Given the description of an element on the screen output the (x, y) to click on. 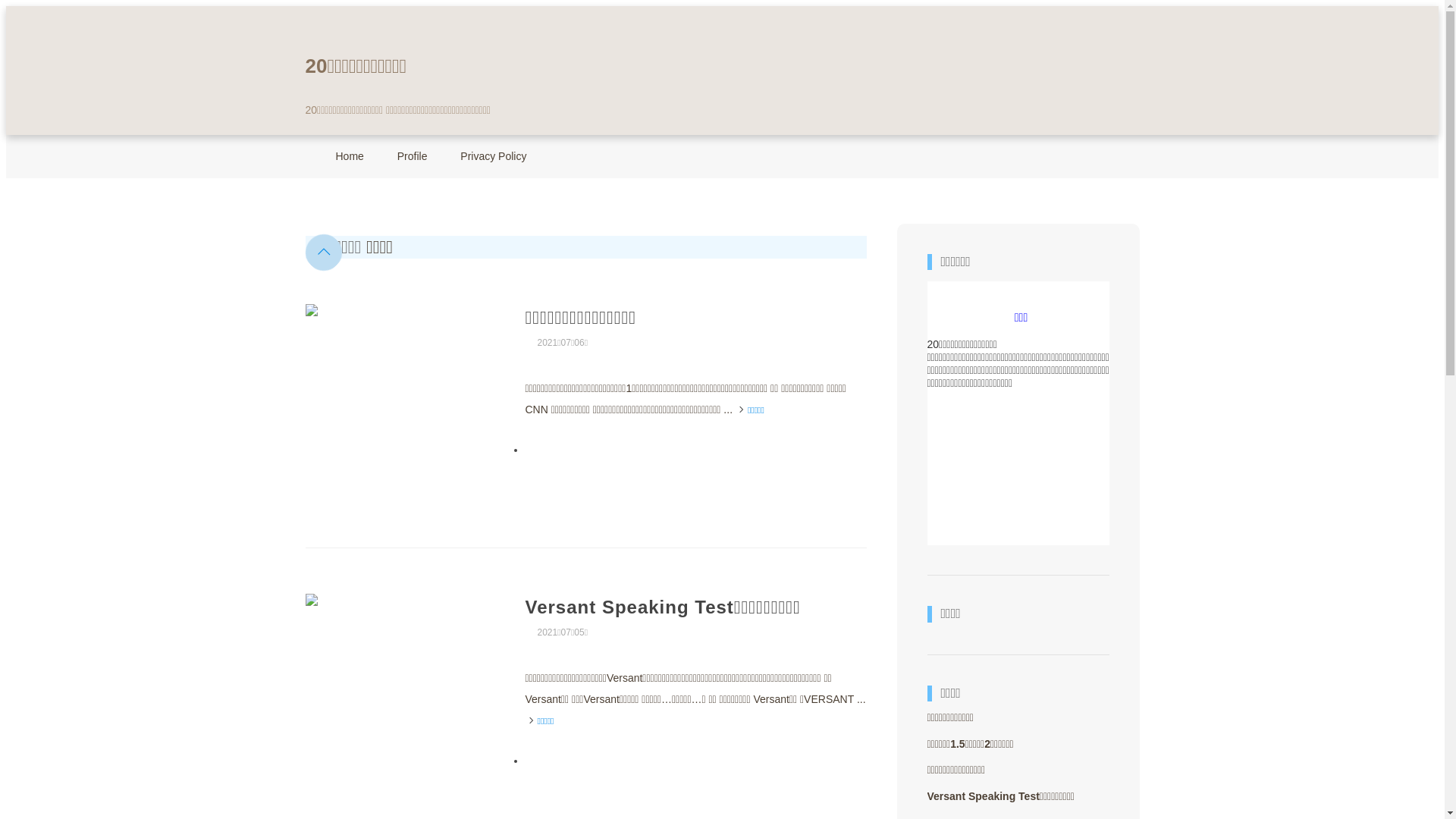
Privacy Policy Element type: text (493, 156)
Profile Element type: text (412, 156)
Home Element type: text (349, 156)
